Given the description of an element on the screen output the (x, y) to click on. 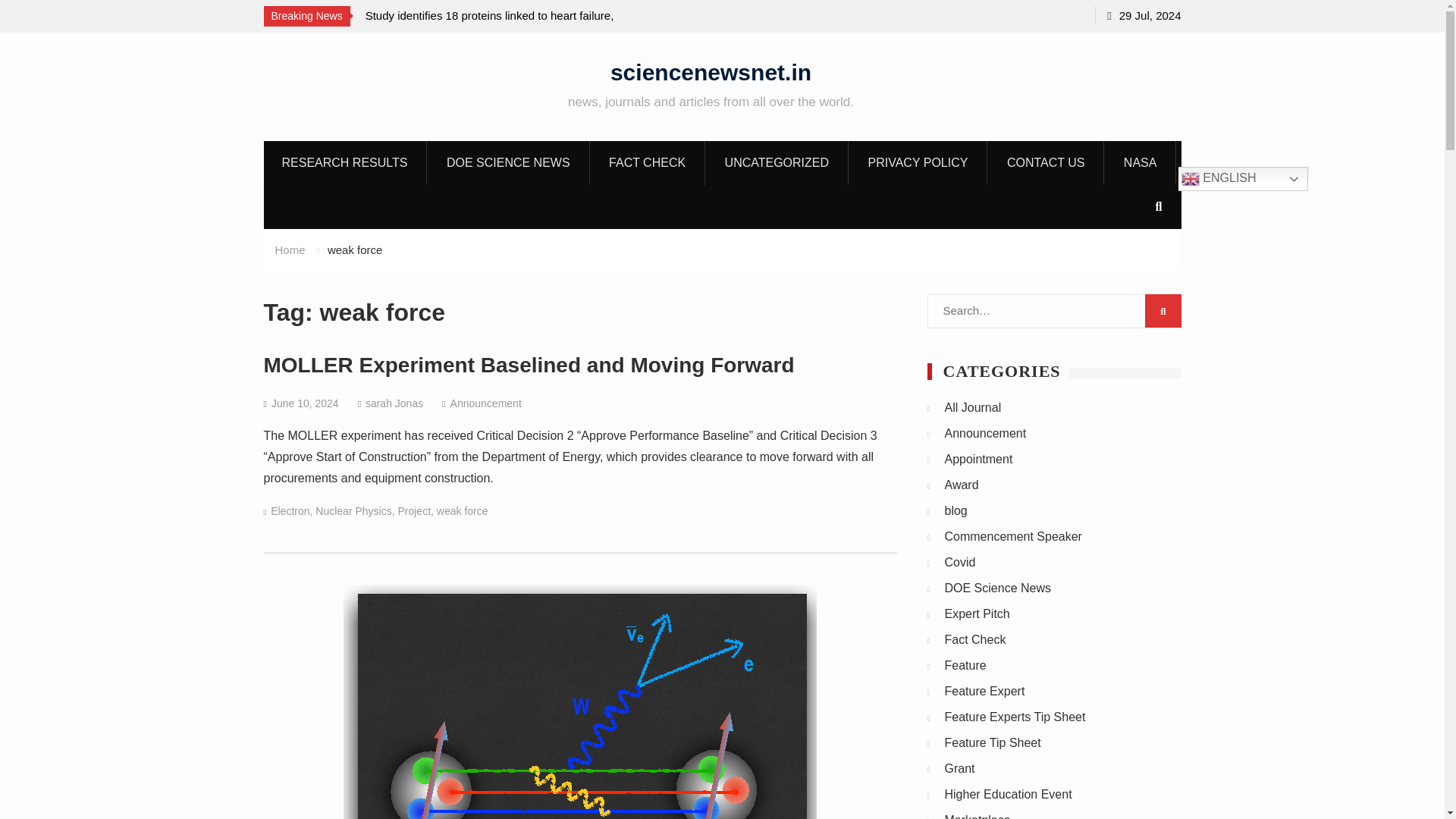
RESEARCH RESULTS (345, 162)
DOE SCIENCE NEWS (508, 162)
sciencenewsnet.in (710, 71)
